Given the description of an element on the screen output the (x, y) to click on. 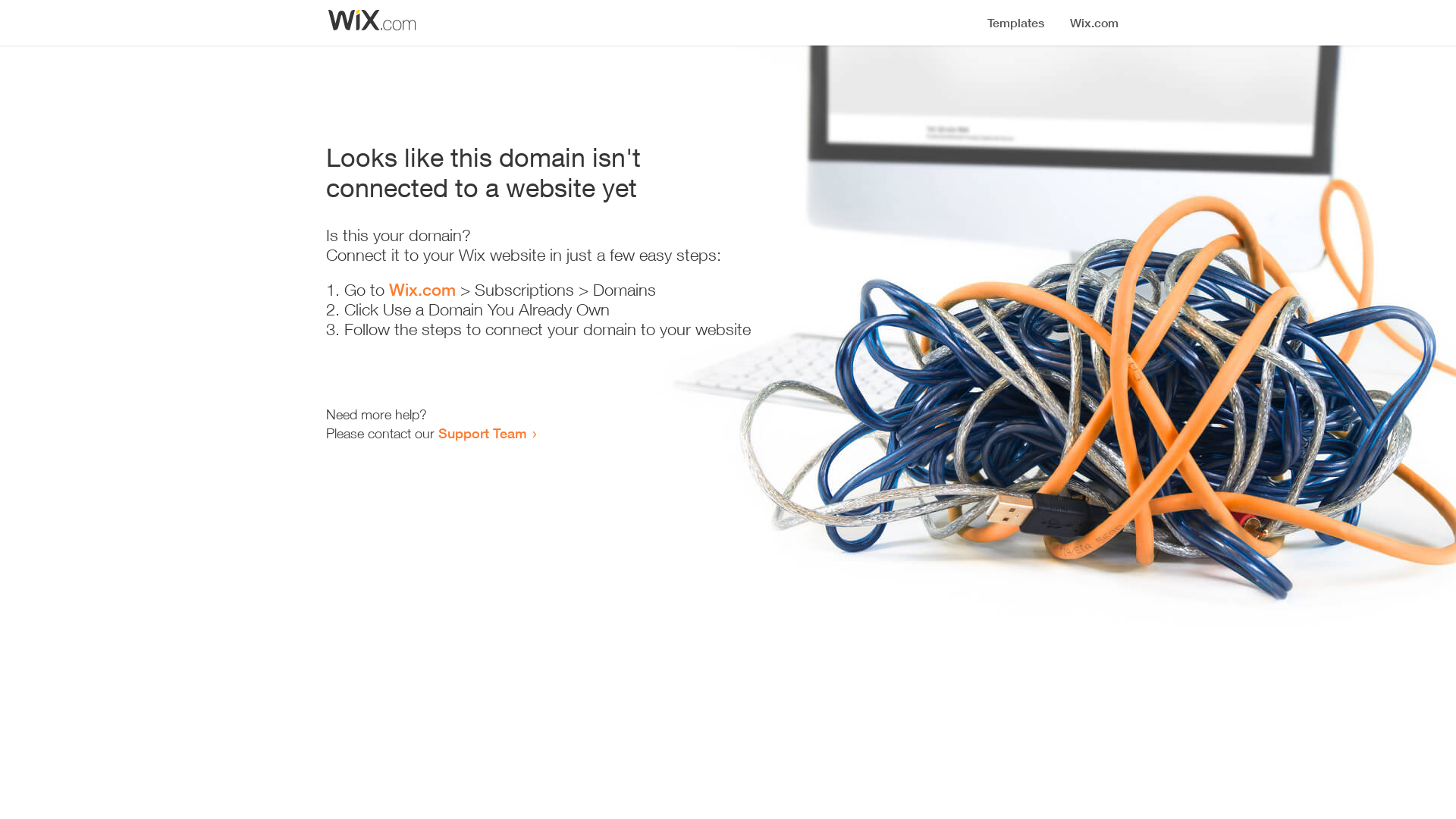
Support Team Element type: text (482, 432)
Wix.com Element type: text (422, 289)
